Given the description of an element on the screen output the (x, y) to click on. 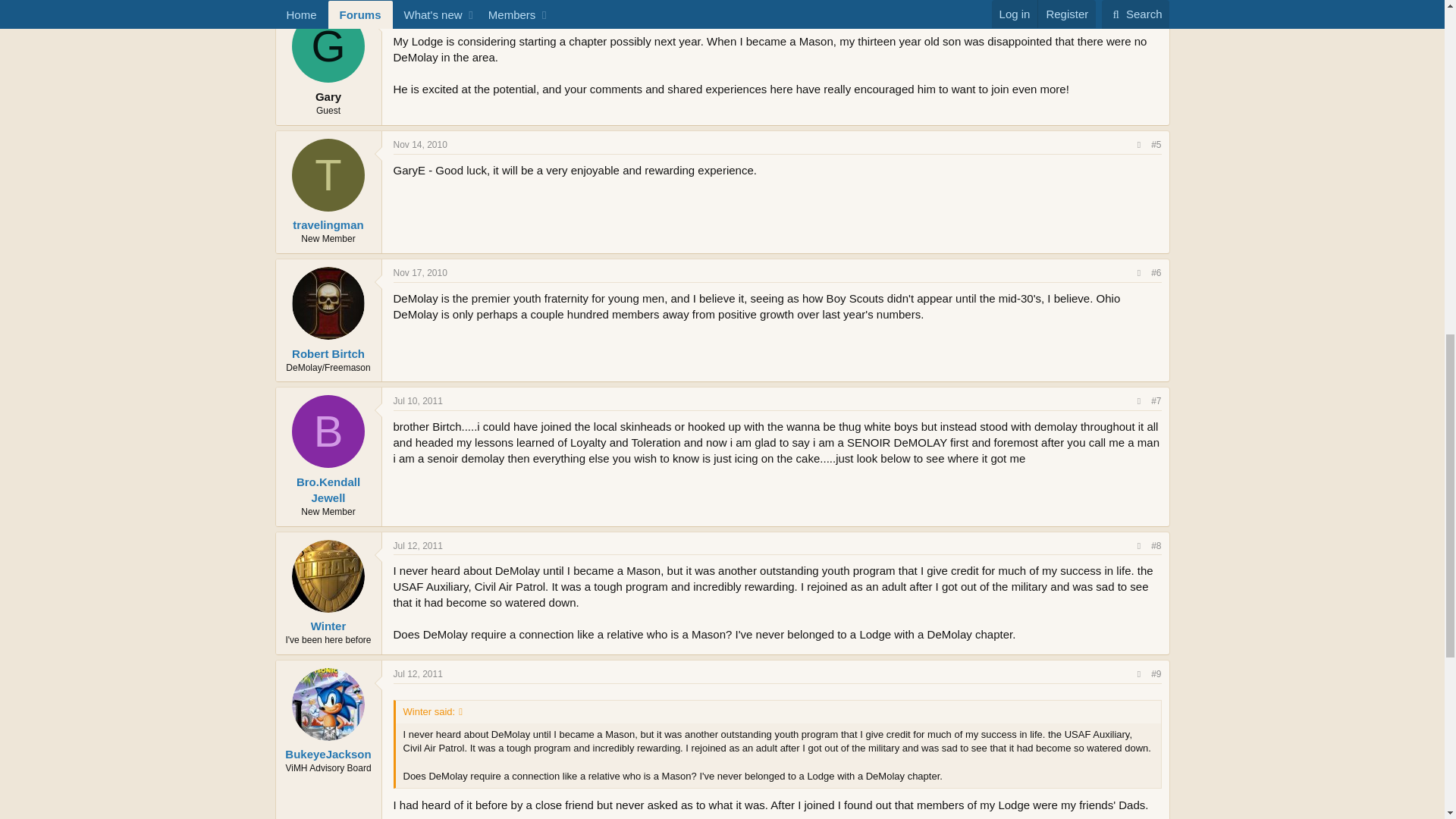
Jul 12, 2011 at 9:59 AM (417, 545)
Oct 20, 2010 at 3:28 PM (419, 15)
Jul 10, 2011 at 10:04 PM (417, 400)
Jul 12, 2011 at 3:22 PM (417, 674)
Nov 17, 2010 at 11:39 PM (419, 272)
Nov 14, 2010 at 8:31 AM (419, 144)
